Given the description of an element on the screen output the (x, y) to click on. 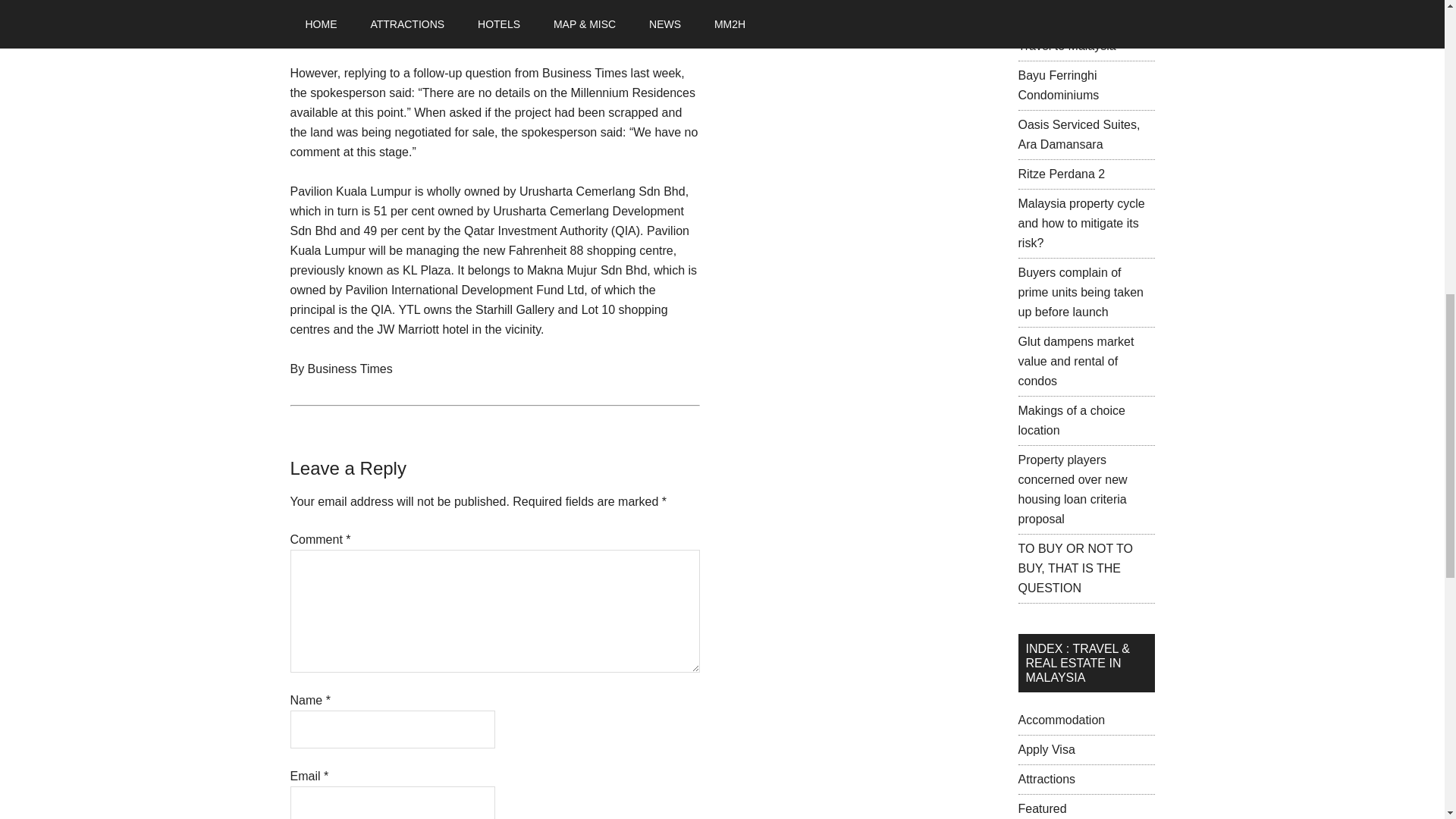
Malaysia property cycle and how to mitigate its risk? (1080, 223)
Attractions (1046, 779)
Glut dampens market value and rental of condos (1075, 360)
Apply Visa (1045, 748)
Ritze Perdana 2 (1061, 173)
Makings of a choice location (1070, 420)
Buyers complain of prime units being taken up before launch (1079, 292)
Oasis Serviced Suites, Ara Damansara (1078, 133)
Accommodation (1061, 719)
Bayu Ferringhi Condominiums (1058, 84)
Travel to Malaysia (1066, 45)
Featured (1041, 808)
TO BUY OR NOT TO BUY, THAT IS THE QUESTION (1074, 568)
